Given the description of an element on the screen output the (x, y) to click on. 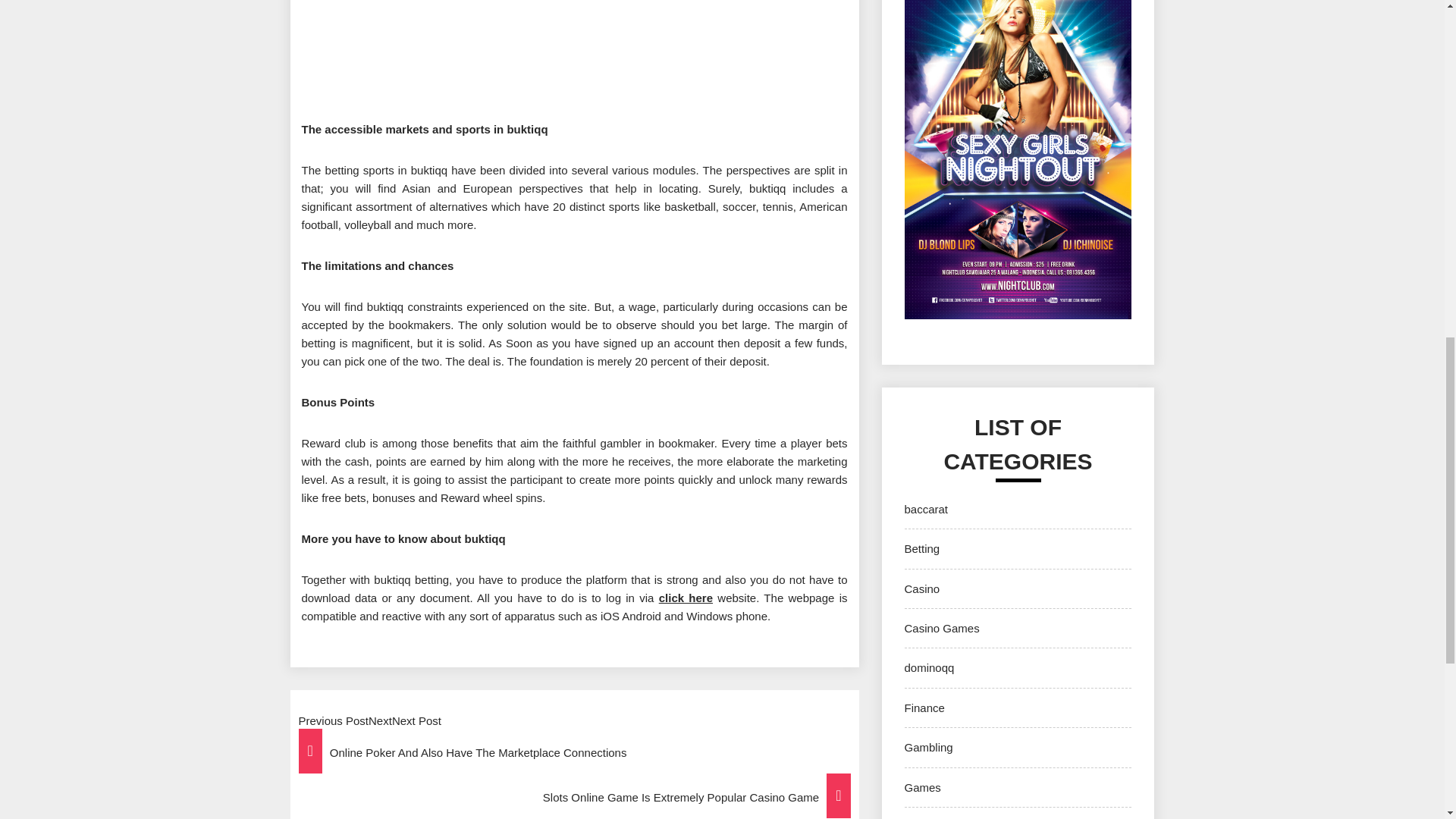
Finance (923, 707)
Gambling (928, 747)
Casino Games (941, 627)
click here (686, 597)
baccarat (925, 508)
Games (922, 787)
Betting (921, 548)
Casino (921, 588)
dominoqq (928, 667)
